Given the description of an element on the screen output the (x, y) to click on. 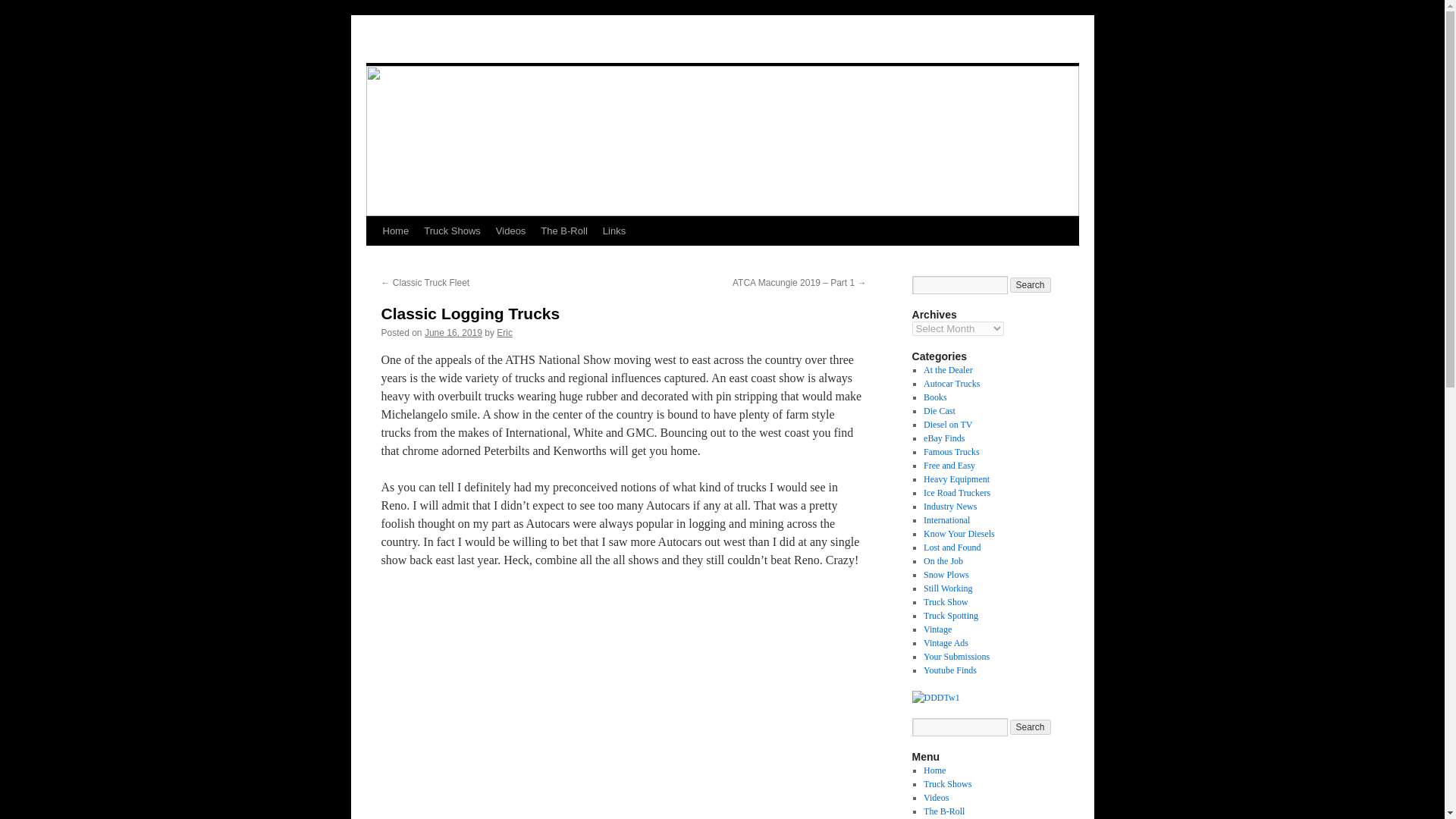
Videos (510, 231)
Still Working (947, 588)
Truck Show (945, 602)
Search (1030, 284)
Truck Spotting (950, 615)
Famous Trucks (951, 451)
Heavy Equipment (956, 479)
Search (1030, 284)
Search (1030, 726)
June 16, 2019 (453, 332)
